Given the description of an element on the screen output the (x, y) to click on. 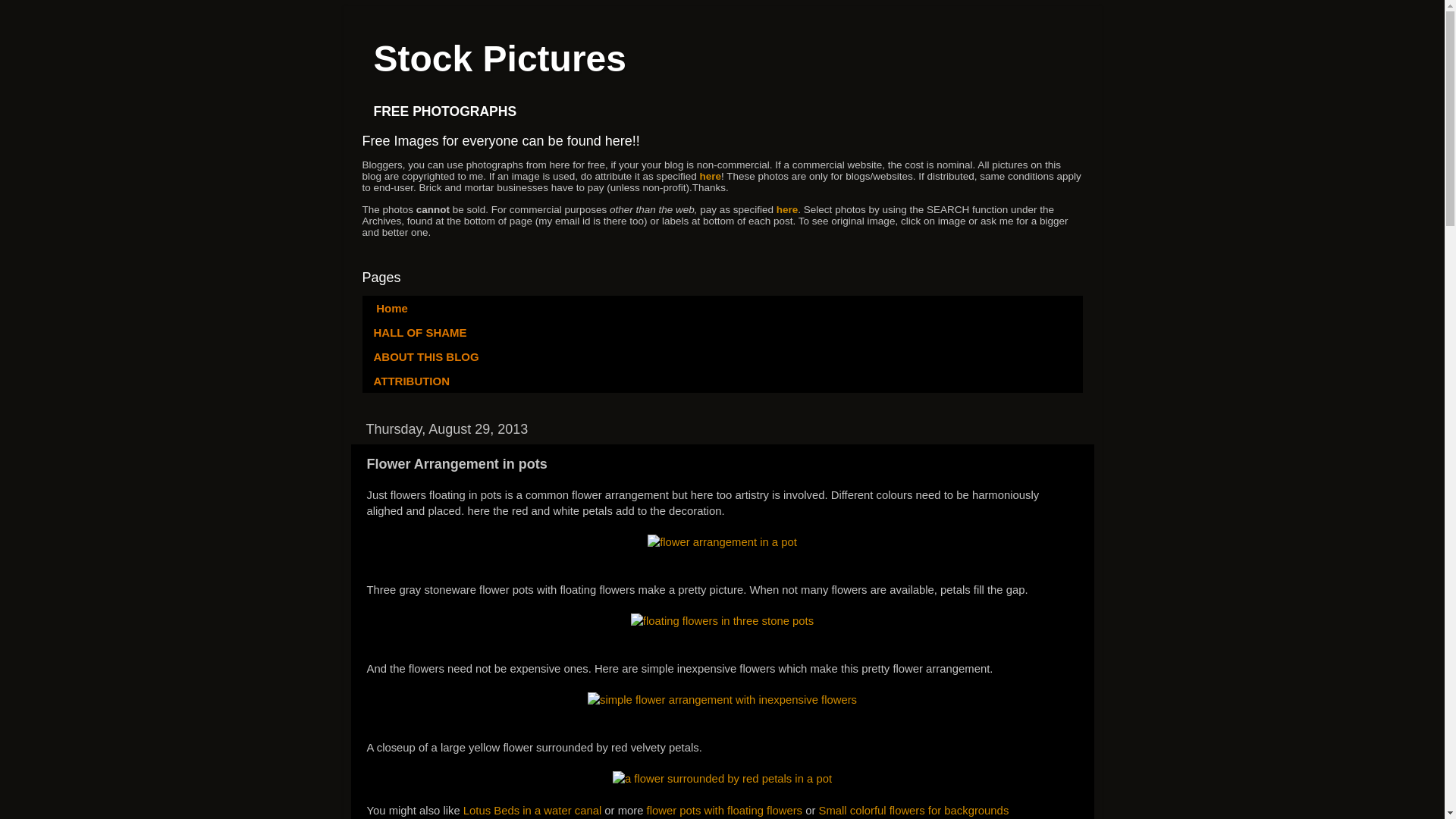
Small colorful flowers for backgrounds (913, 810)
Home (391, 307)
here (786, 209)
here (709, 175)
ATTRIBUTION (412, 380)
ABOUT THIS BLOG (427, 355)
Stock Pictures (499, 58)
Lotus Beds in a water canal (532, 810)
HALL OF SHAME (420, 331)
flower pots with floating flowers (724, 810)
